Given the description of an element on the screen output the (x, y) to click on. 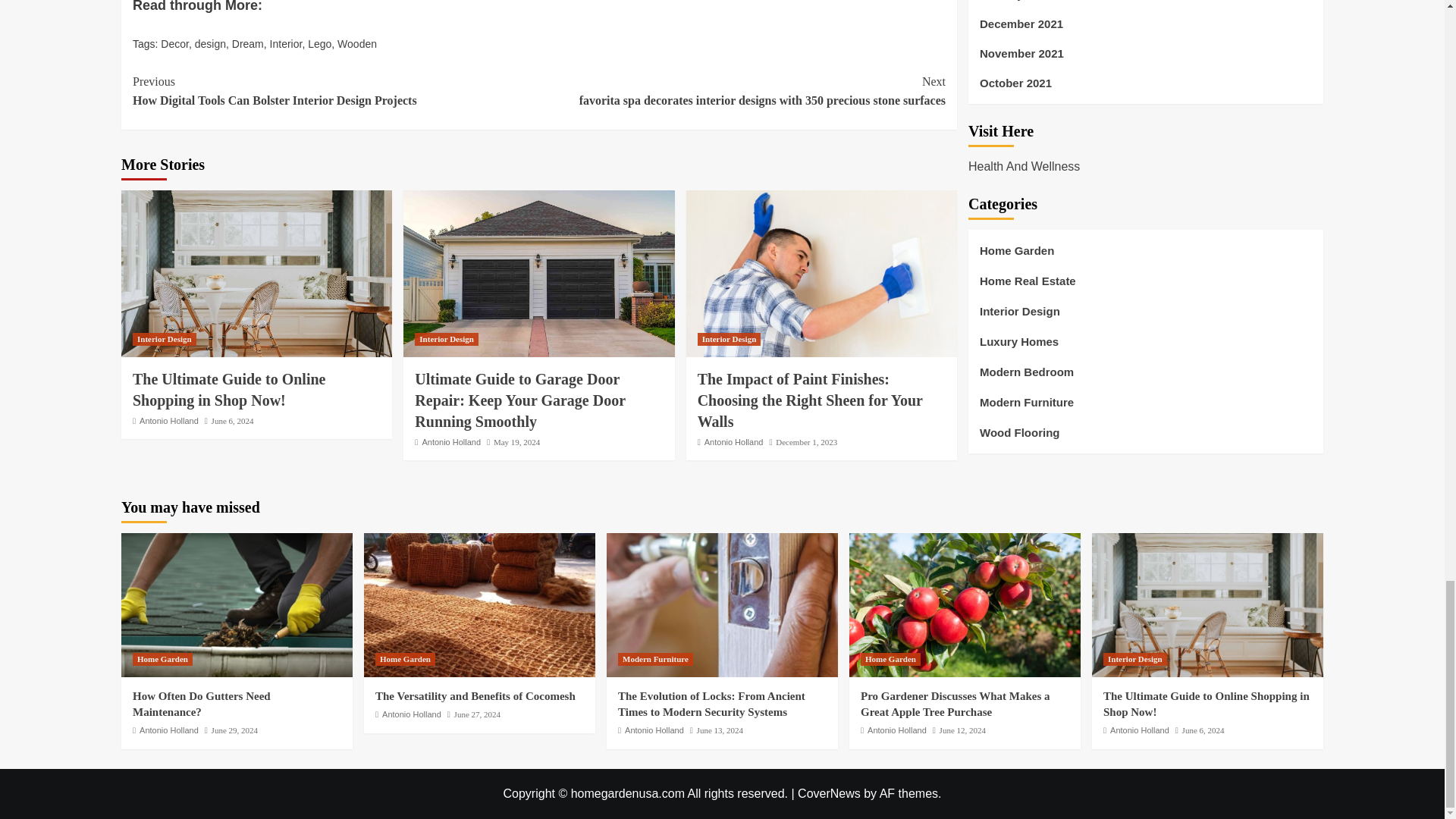
The Versatility and Benefits of Cocomesh (479, 605)
Wooden (357, 43)
Interior (285, 43)
How Often Do Gutters Need Maintenance? (236, 605)
The Ultimate Guide to Online Shopping in Shop Now! (228, 389)
Dream (247, 43)
Antonio Holland (168, 420)
design (210, 43)
The Ultimate Guide to Online Shopping in Shop Now! (1207, 605)
Interior Design (164, 338)
